Given the description of an element on the screen output the (x, y) to click on. 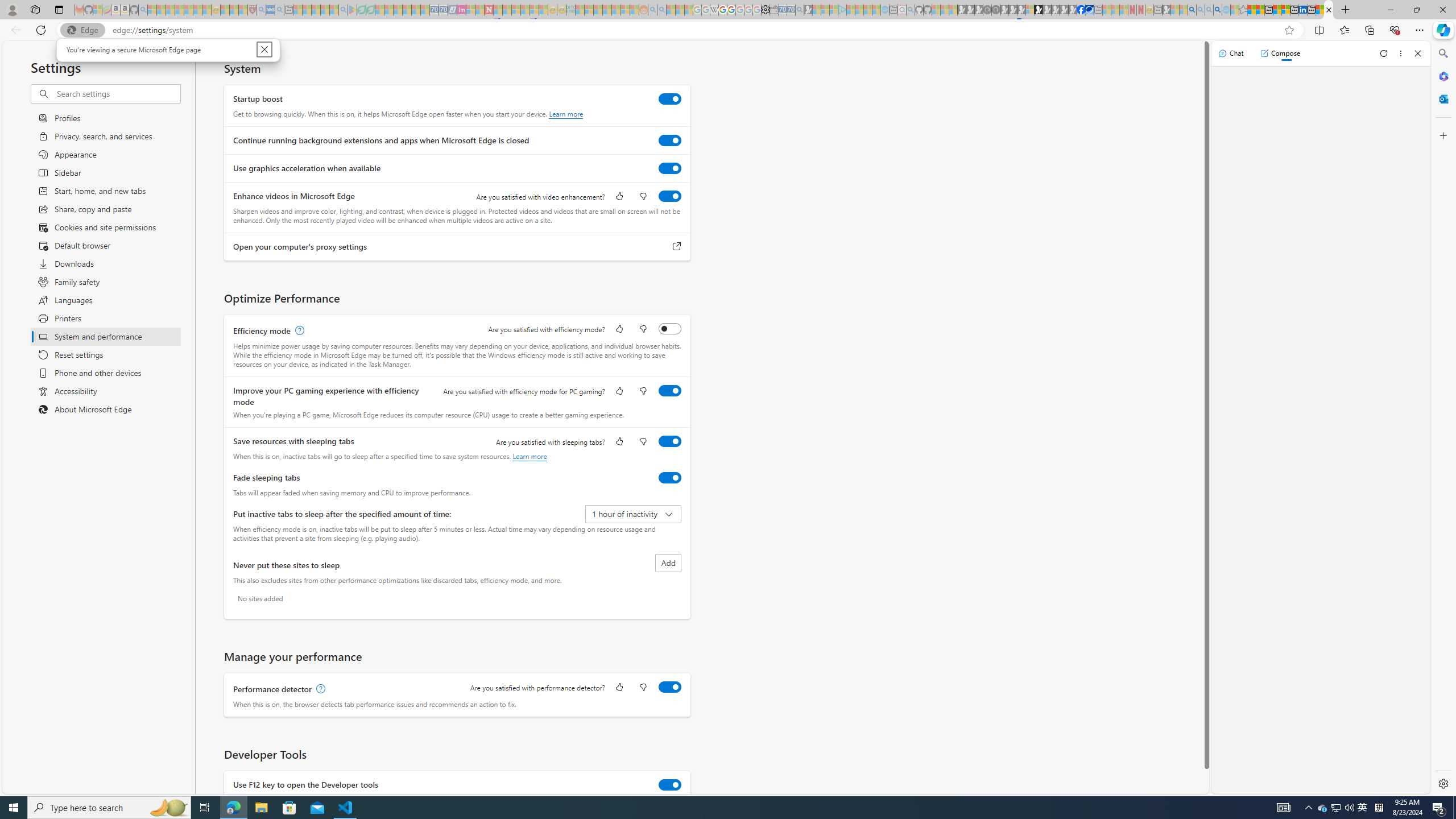
Search highlights icon opens search home window (167, 807)
Use F12 key to open the Developer tools (669, 784)
Microsoft Edge - 1 running window (233, 807)
Future Focus Report 2024 - Sleeping (995, 9)
Microsoft Store (1335, 807)
